Given the description of an element on the screen output the (x, y) to click on. 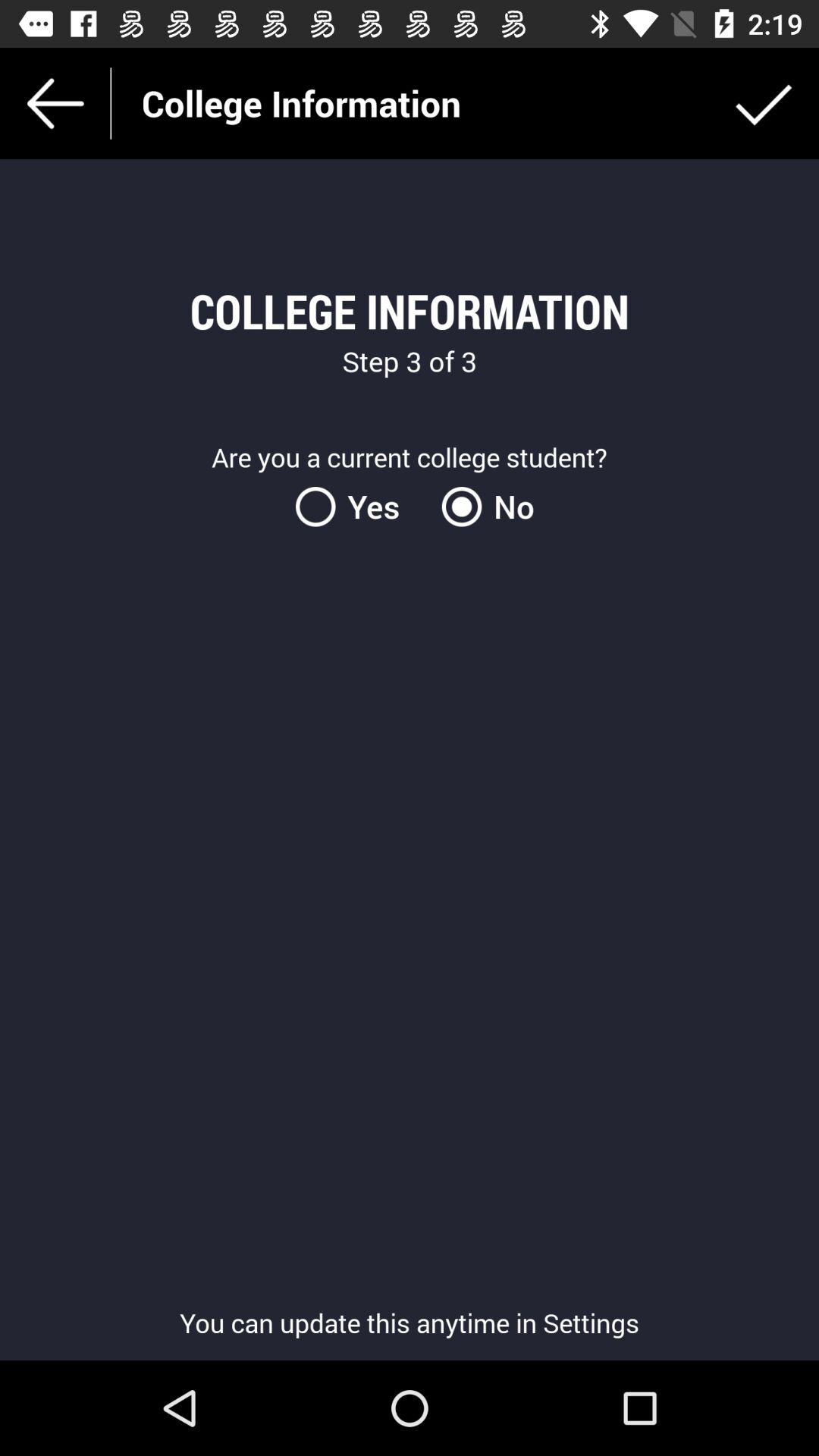
scroll until yes item (356, 506)
